Given the description of an element on the screen output the (x, y) to click on. 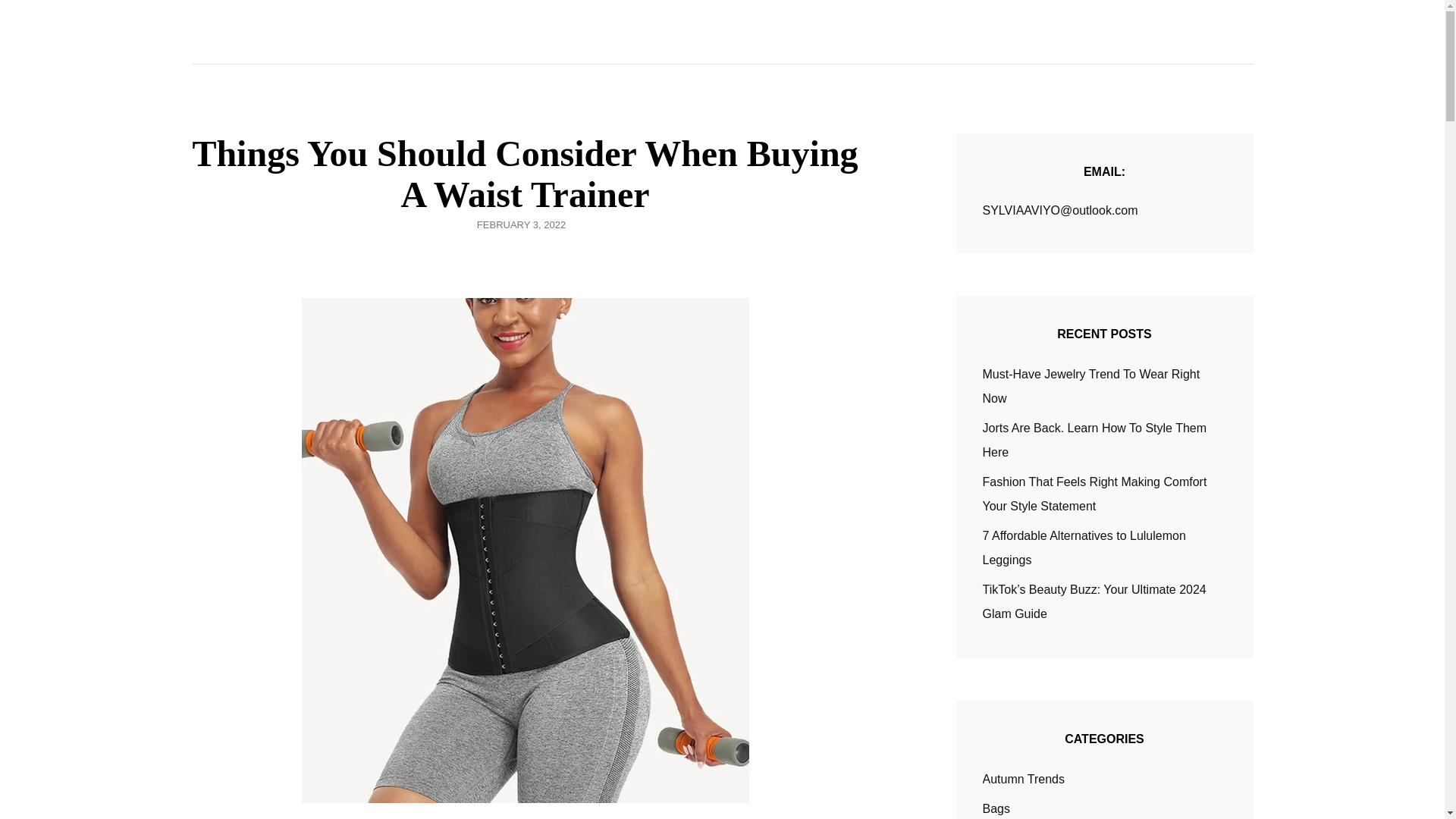
Jorts Are Back. Learn How To Style Them Here (1094, 439)
Must-Have Jewelry Trend To Wear Right Now (1090, 385)
7 Affordable Alternatives to Lululemon Leggings (1084, 547)
Autumn Trends (1023, 779)
FEBRUARY 3, 2022 (521, 224)
Bags (996, 807)
Fashion That Feels Right Making Comfort Your Style Statement (1094, 493)
